Given the description of an element on the screen output the (x, y) to click on. 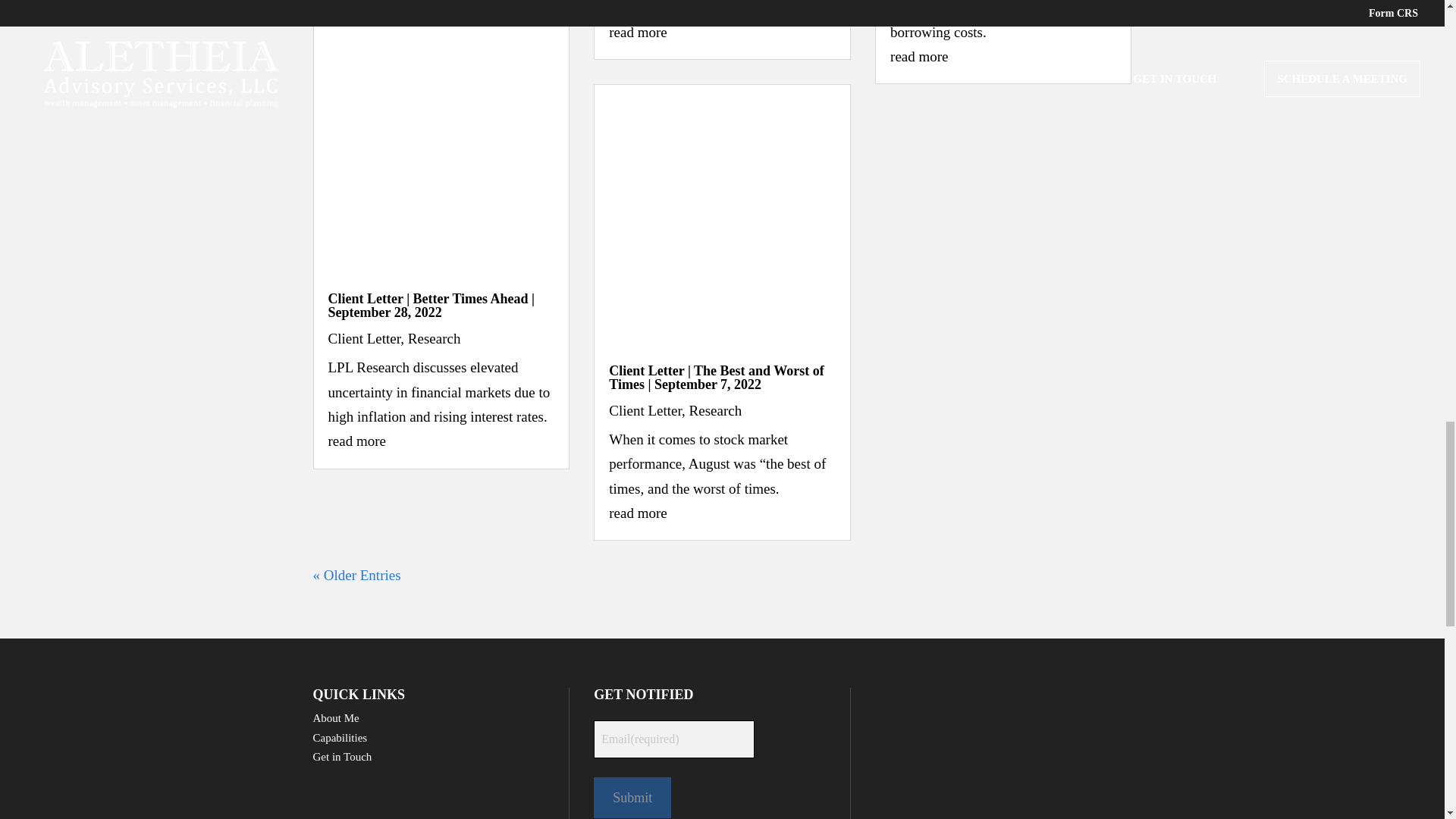
read more (918, 56)
About Me (335, 717)
Research (434, 338)
Client Letter (363, 338)
read more (637, 512)
read more (637, 32)
Client Letter (644, 410)
Capabilities (339, 737)
read more (356, 440)
Research (715, 410)
